Given the description of an element on the screen output the (x, y) to click on. 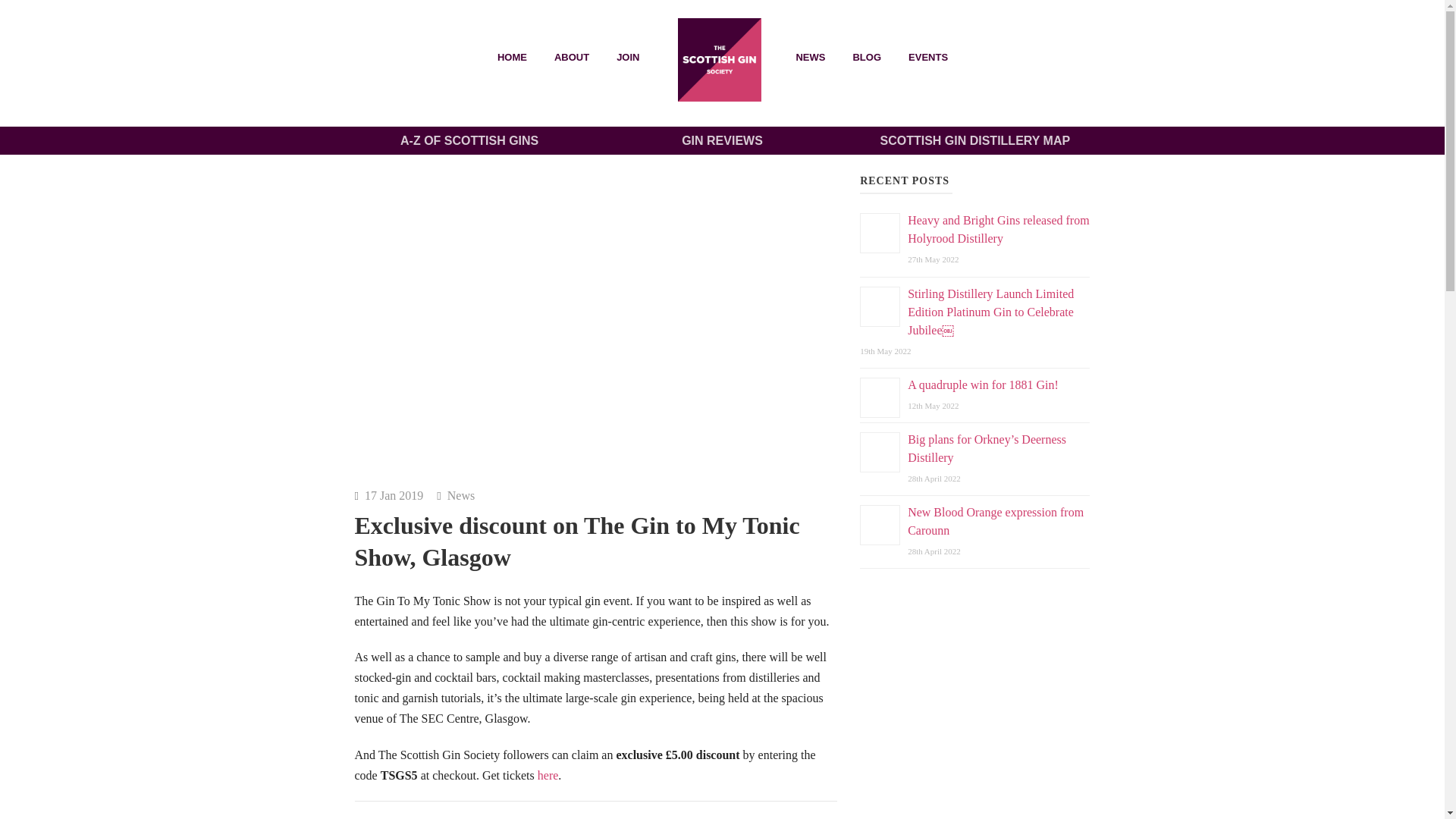
A-Z OF SCOTTISH GINS (468, 140)
here (548, 775)
Heavy and Bright Gins released from Holyrood Distillery (998, 228)
17 Jan 2019 (394, 495)
HOME (719, 59)
GIN REVIEWS (722, 140)
SCOTTISH GIN DISTILLERY MAP (975, 140)
News (460, 495)
